Given the description of an element on the screen output the (x, y) to click on. 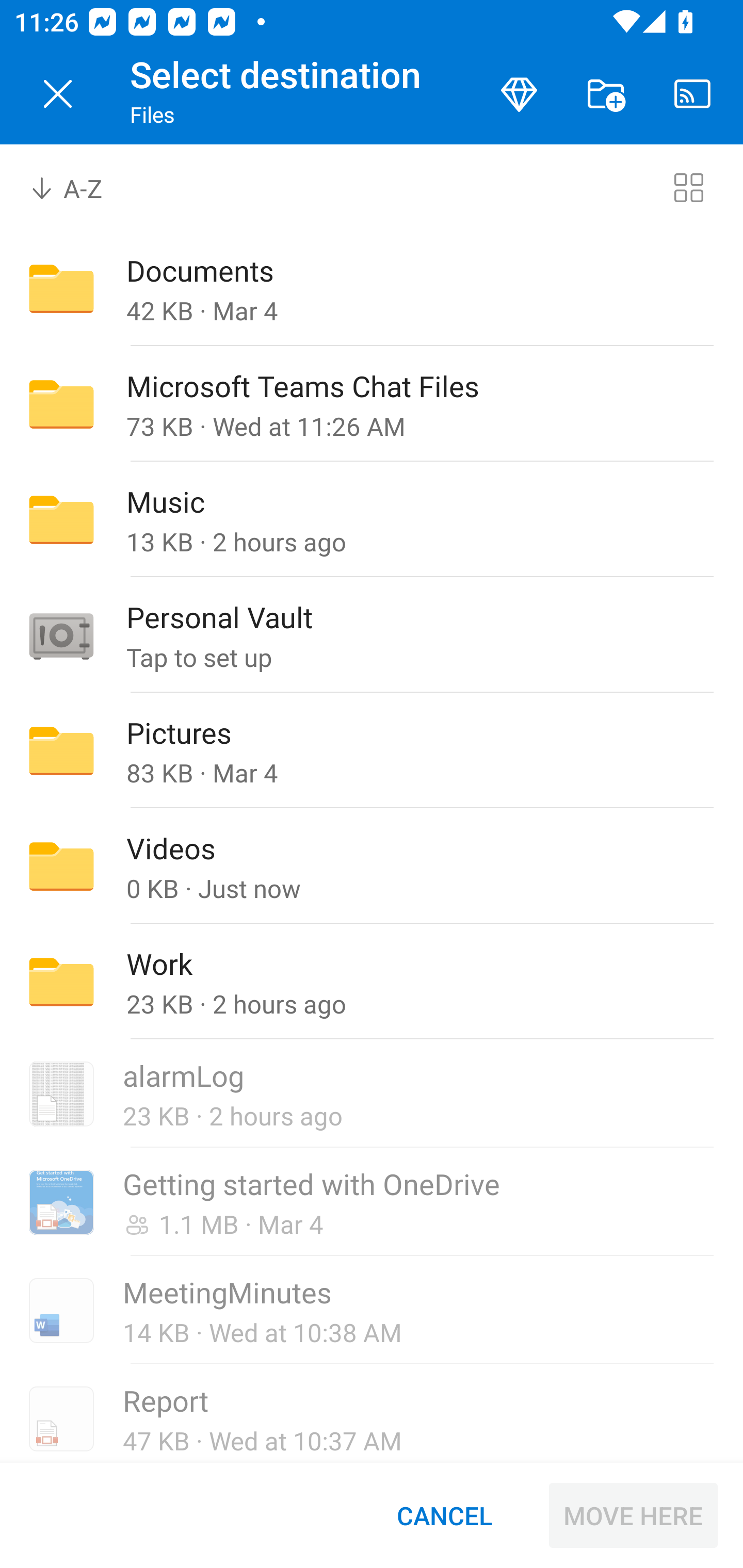
Close (57, 93)
Cast. Disconnected (692, 93)
Premium button (518, 93)
More actions button (605, 93)
A-Z Sort by combo box, sort by name, A to Z (80, 187)
Switch to tiles view (688, 187)
Folder Documents 42 KB · Mar 4 (371, 288)
Folder Music 13 KB · 2 hours ago (371, 519)
Folder Personal Vault Tap to set up (371, 635)
Folder Pictures 83 KB · Mar 4 (371, 751)
Folder Videos 0 KB · Just now (371, 866)
Folder Work 23 KB · 2 hours ago (371, 981)
Document alarmLog 23 KB · 2 hours ago (371, 1093)
Document Report 47 KB · Wed at 10:37 AM (371, 1413)
CANCEL (443, 1515)
MOVE HERE (633, 1515)
